Given the description of an element on the screen output the (x, y) to click on. 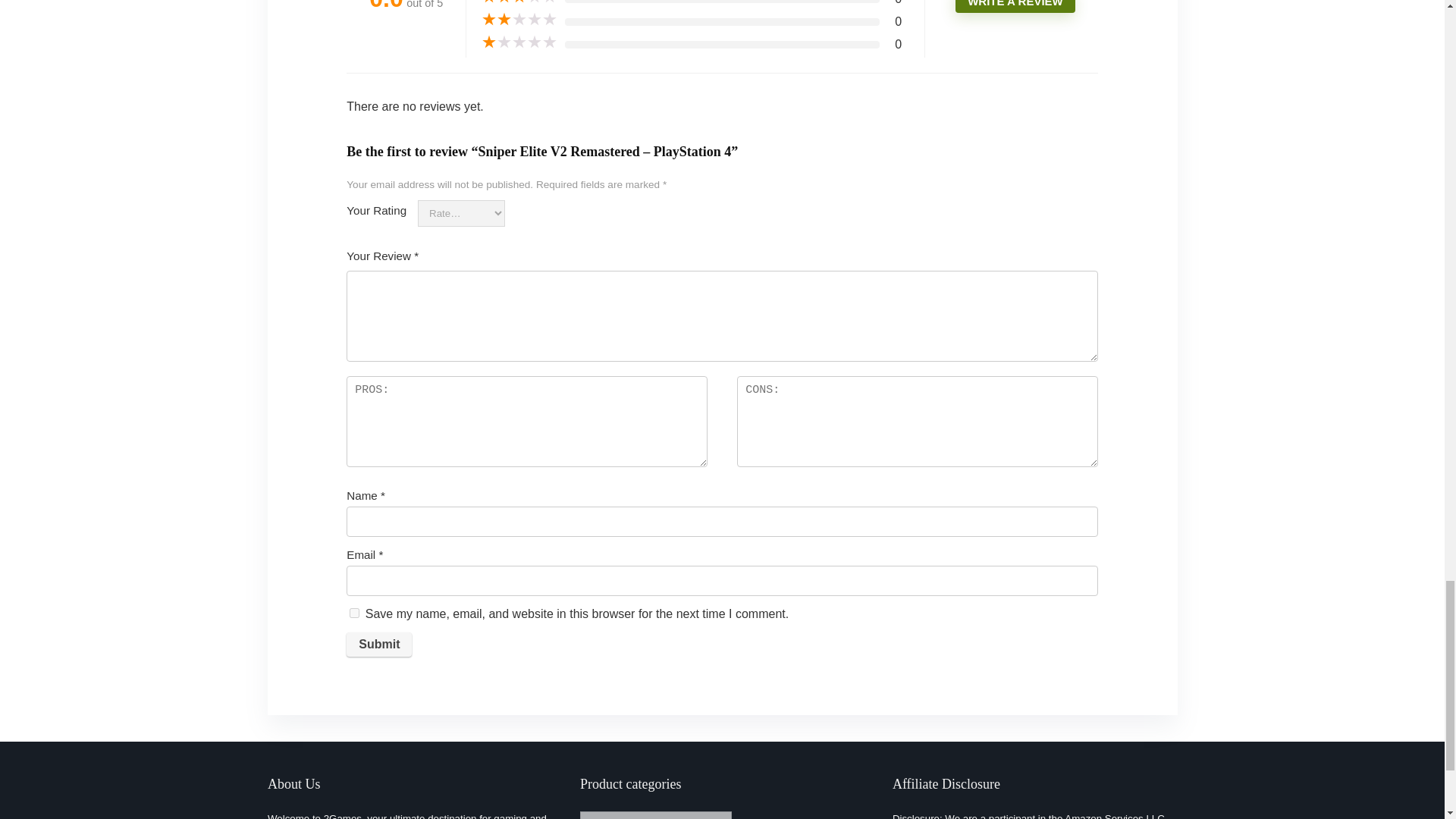
WRITE A REVIEW (1015, 6)
Rated 2 out of 5 (519, 19)
yes (354, 613)
Rated 3 out of 5 (519, 2)
Submit (379, 644)
